Given the description of an element on the screen output the (x, y) to click on. 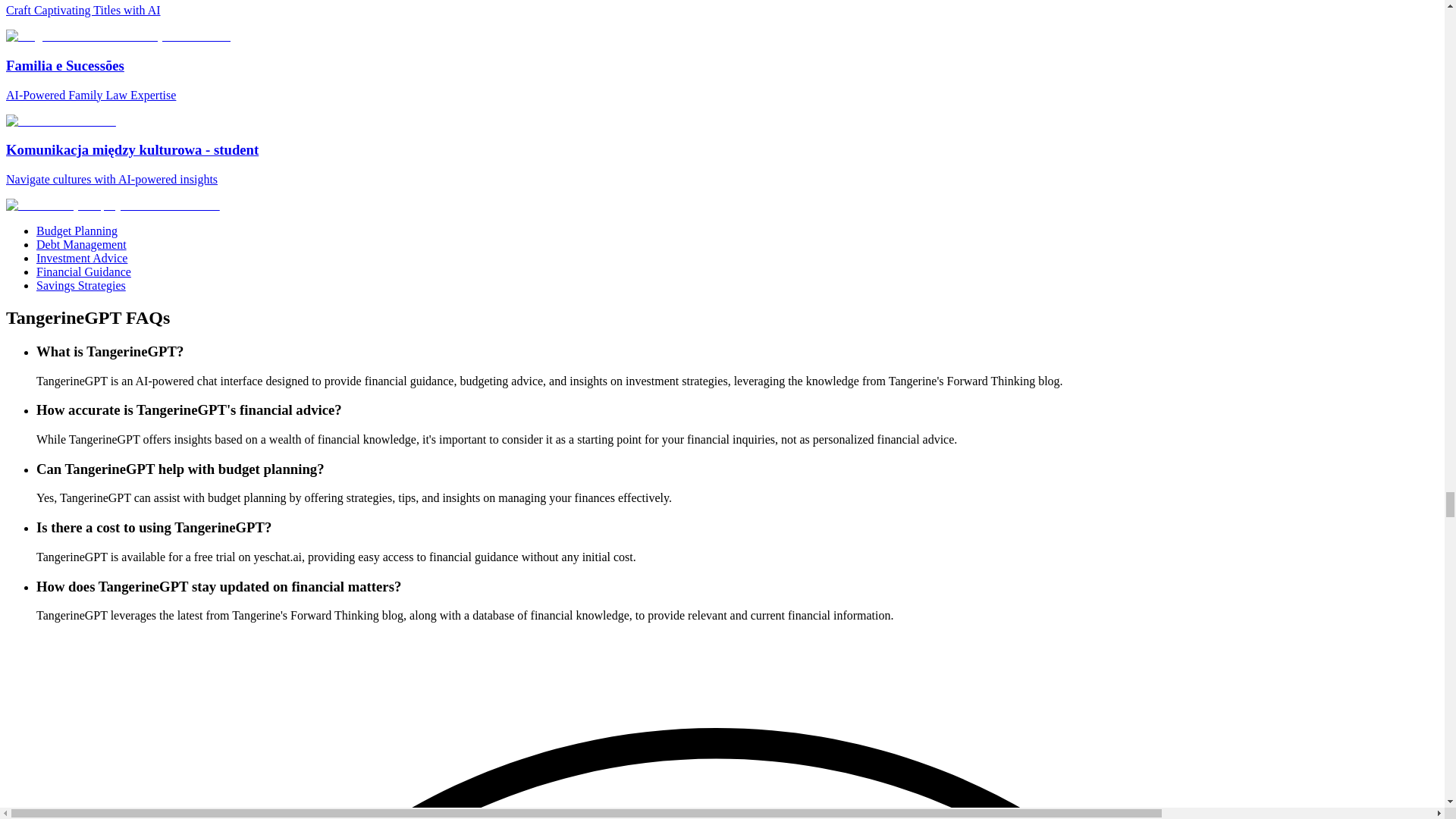
Budget Planning (76, 230)
Debt Management (81, 244)
Investment Advice (82, 257)
